Given the description of an element on the screen output the (x, y) to click on. 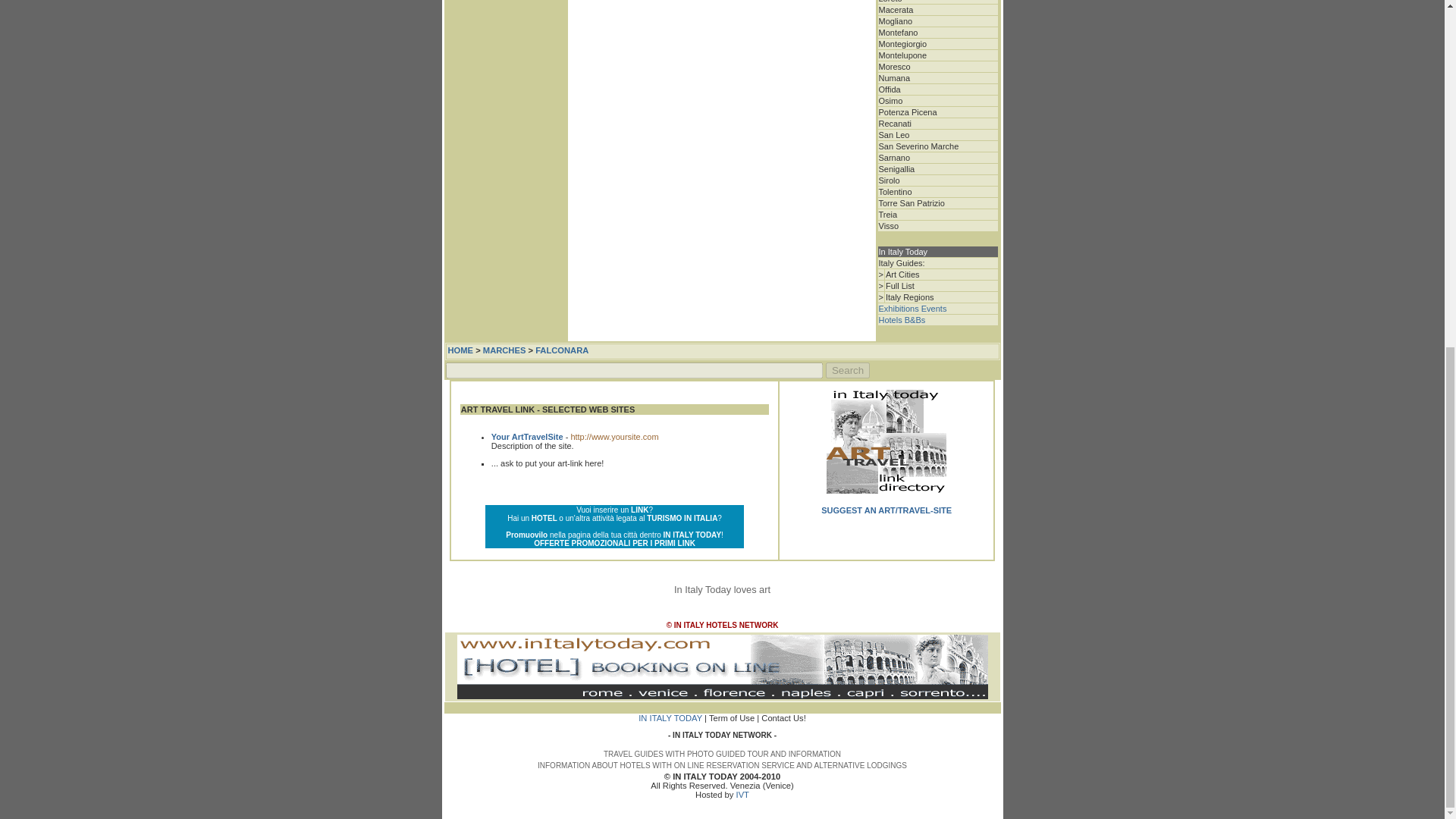
Moresco (893, 66)
Montegiorgio (901, 43)
Search (847, 370)
Numana (893, 77)
Loreto (889, 1)
Macerata (894, 9)
Recanati (894, 122)
Montefano (897, 31)
Mogliano (894, 20)
Sarnano (893, 157)
San Leo (892, 134)
Osimo (889, 100)
Offida (888, 89)
Senigallia (895, 168)
Sirolo (888, 180)
